Given the description of an element on the screen output the (x, y) to click on. 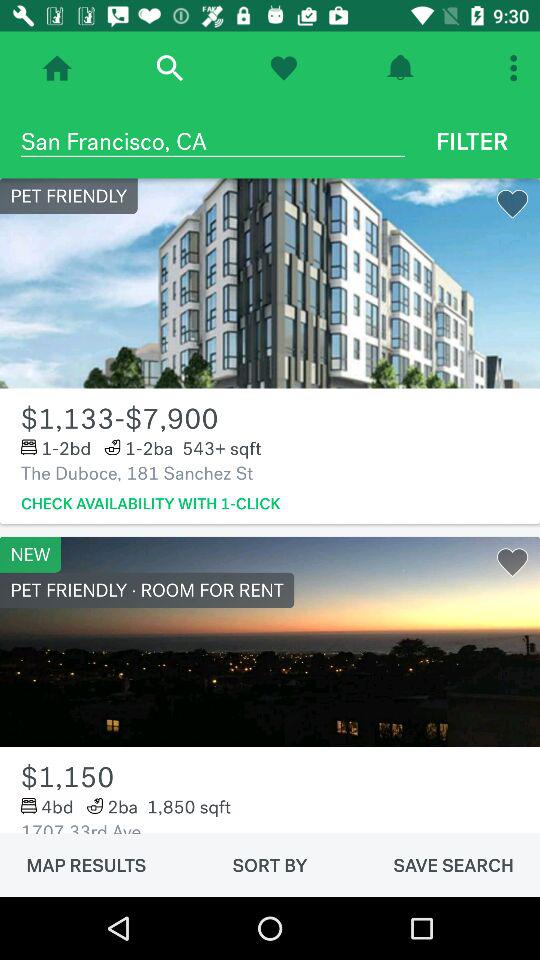
press the item next to map results (269, 865)
